Given the description of an element on the screen output the (x, y) to click on. 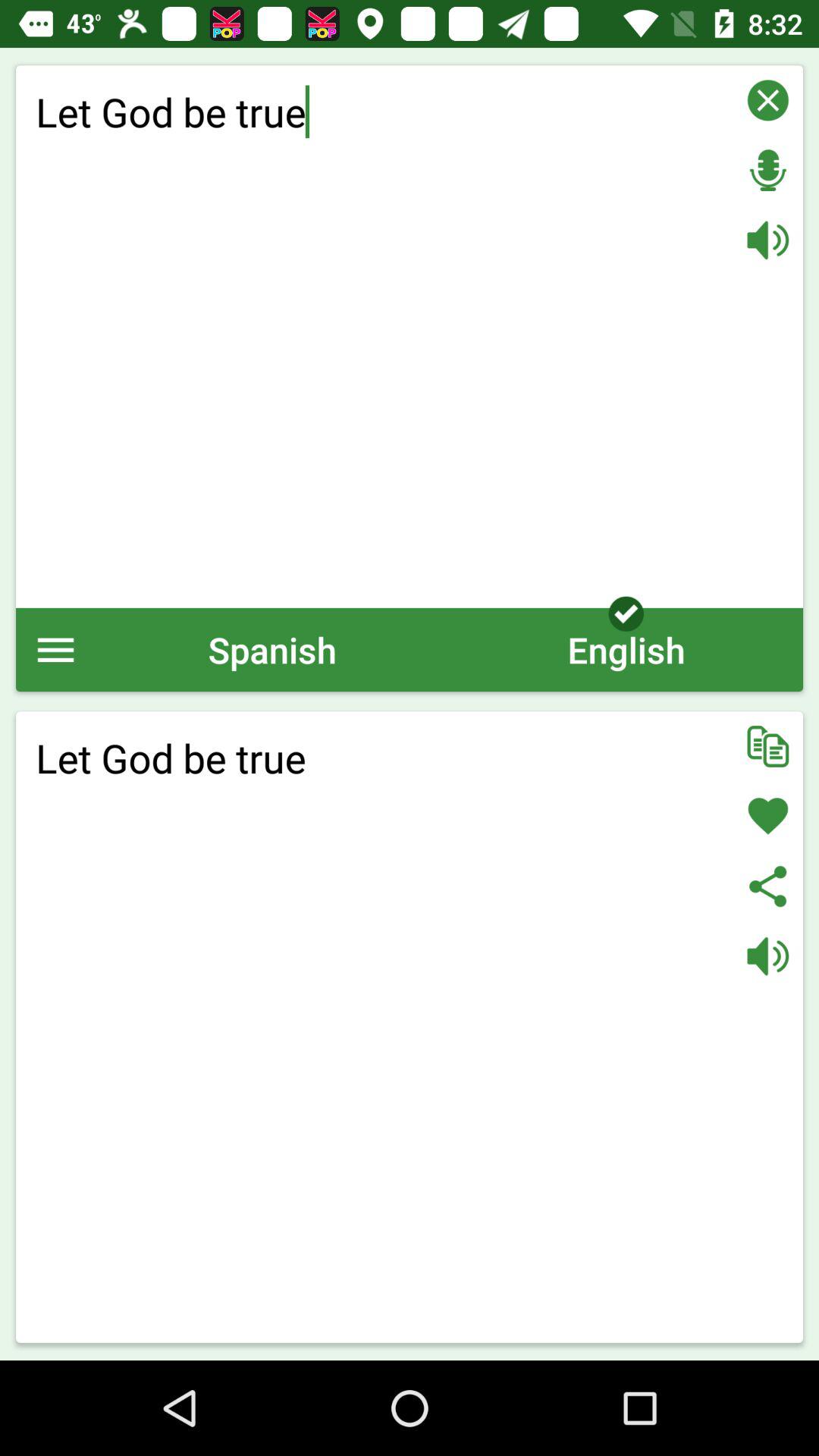
turn off the icon below let god be item (55, 649)
